Given the description of an element on the screen output the (x, y) to click on. 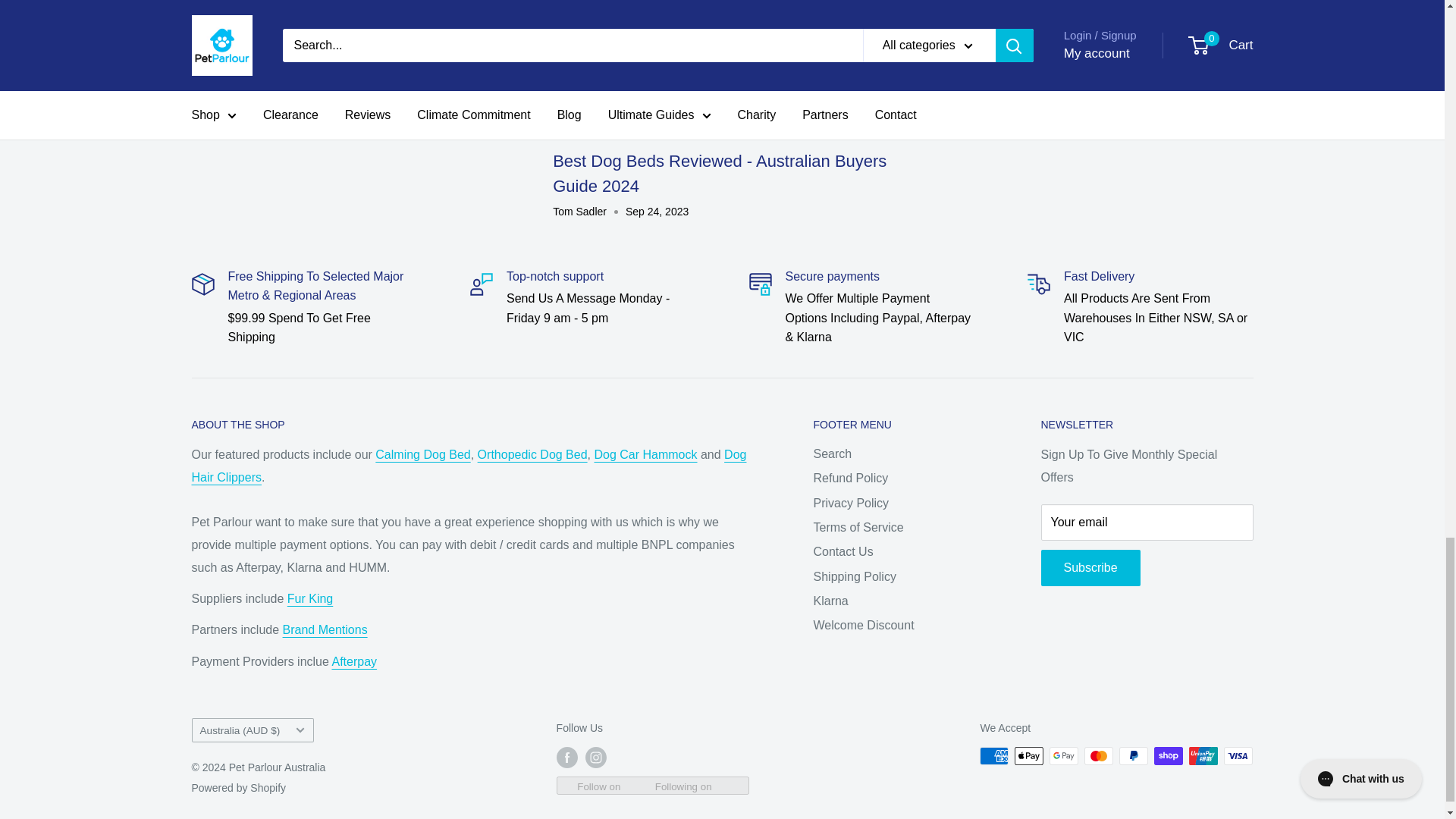
Calming Dog Bed (422, 454)
Orthopedic Dog Bed (532, 454)
Dog Car Hammock (645, 454)
Dog Hair Clippers (467, 465)
